Given the description of an element on the screen output the (x, y) to click on. 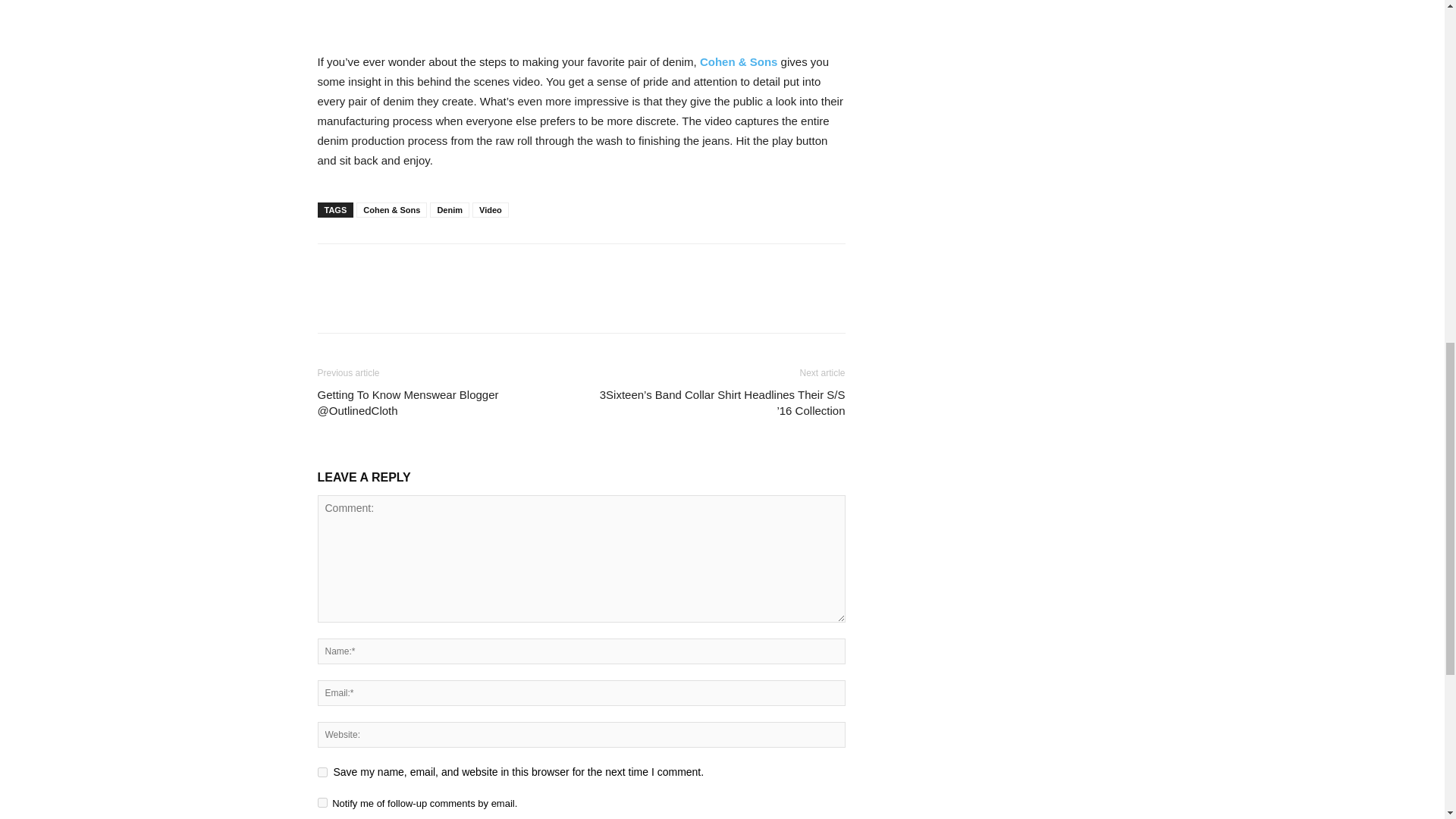
subscribe (321, 802)
yes (321, 772)
